Given the description of an element on the screen output the (x, y) to click on. 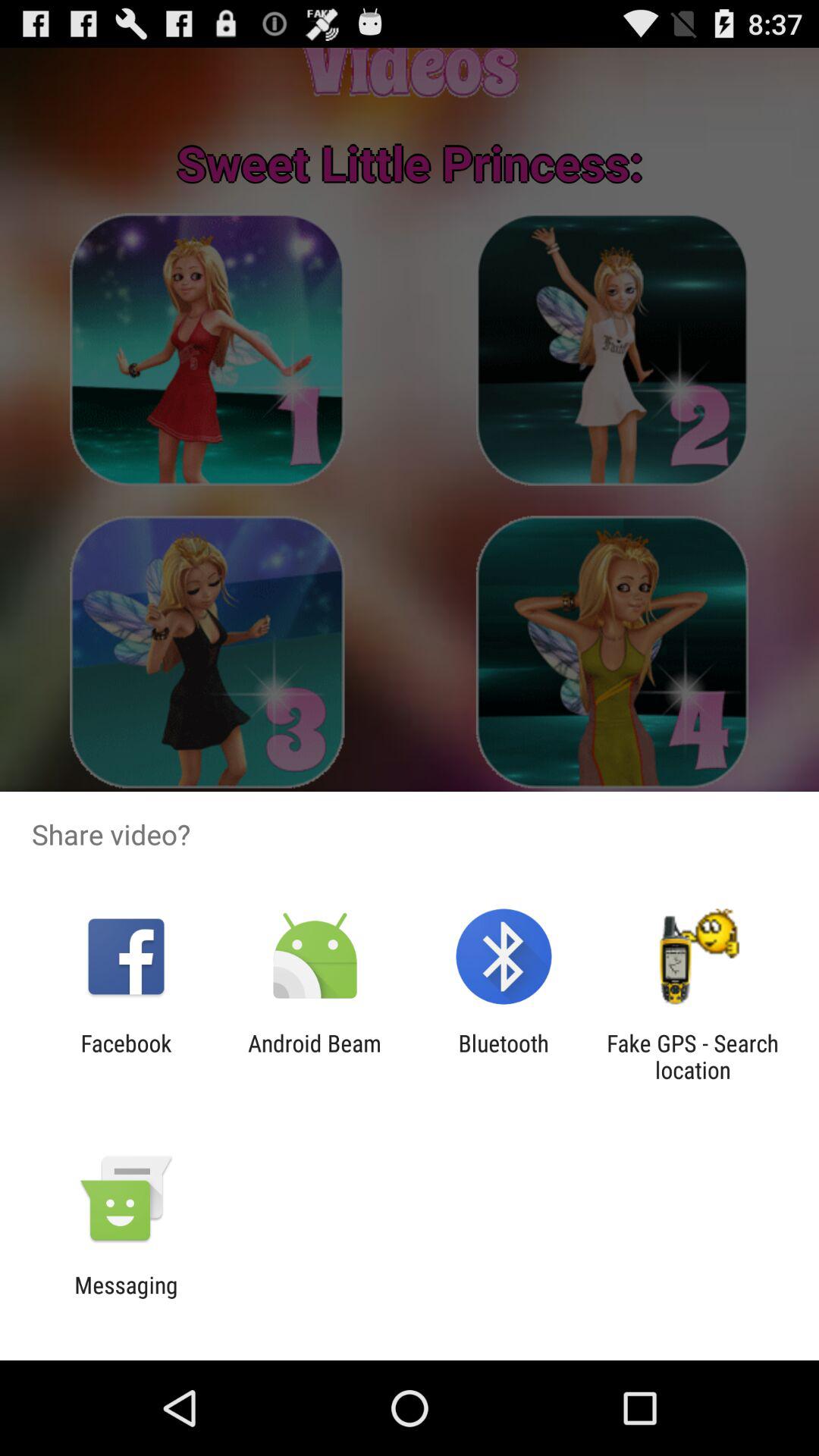
press icon next to the bluetooth (692, 1056)
